Given the description of an element on the screen output the (x, y) to click on. 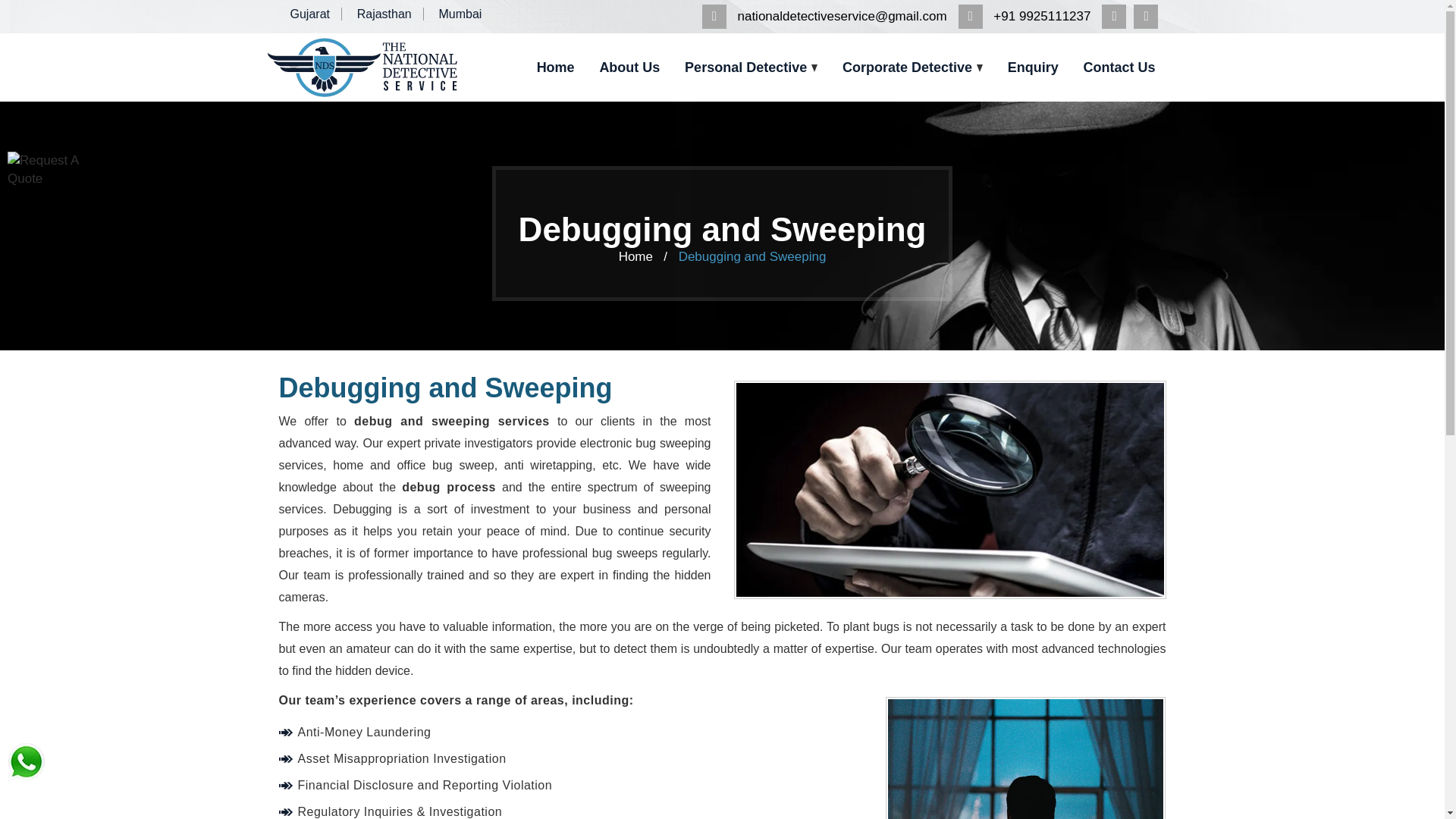
facebook (1150, 16)
Home (555, 67)
facebook (1118, 16)
Mumbai (459, 13)
Rajasthan (389, 13)
Gujarat (314, 13)
About Us (628, 67)
Corporate Detective (911, 67)
Personal Detective (751, 67)
